Given the description of an element on the screen output the (x, y) to click on. 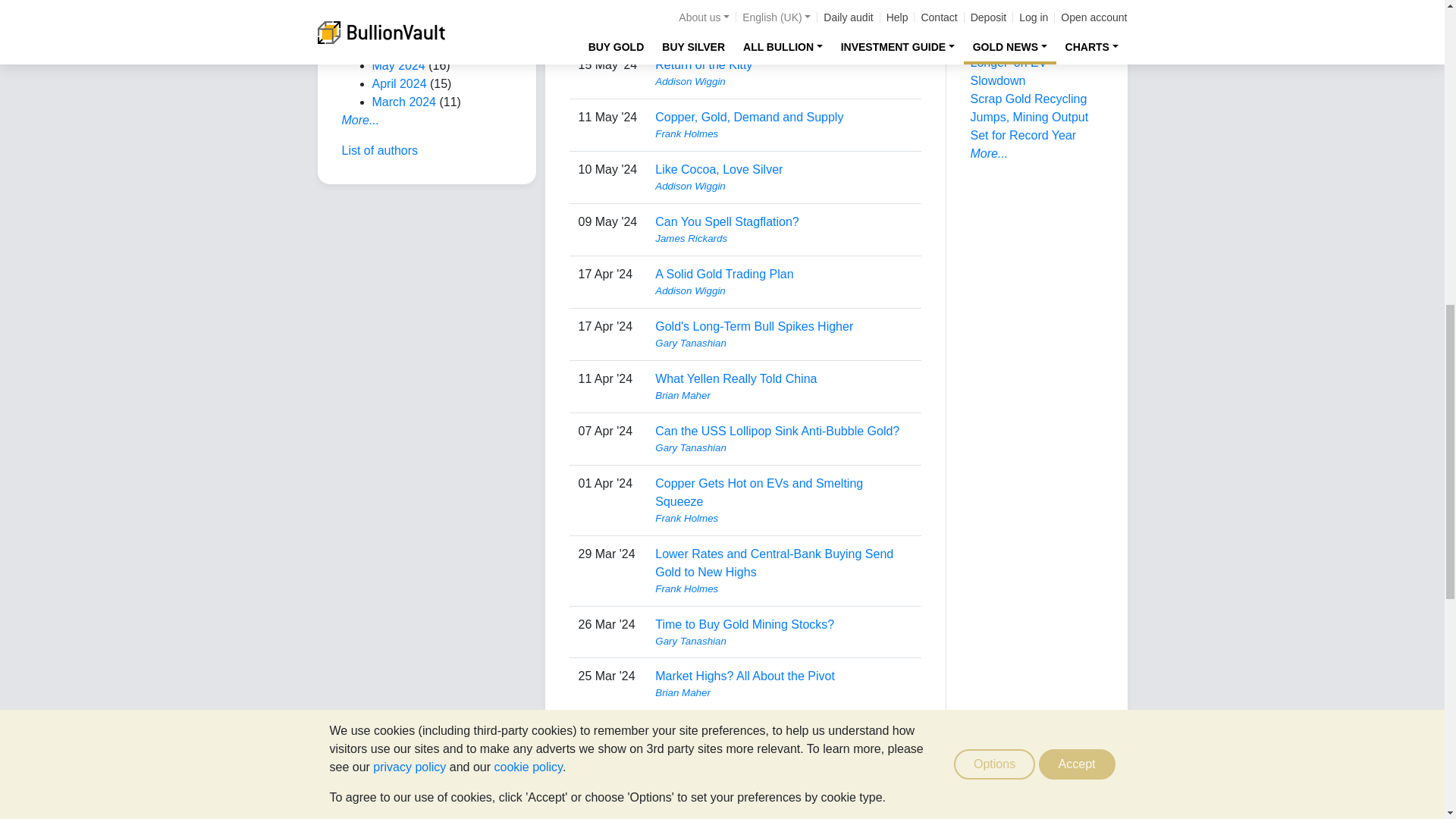
View user profile. (783, 29)
